Given the description of an element on the screen output the (x, y) to click on. 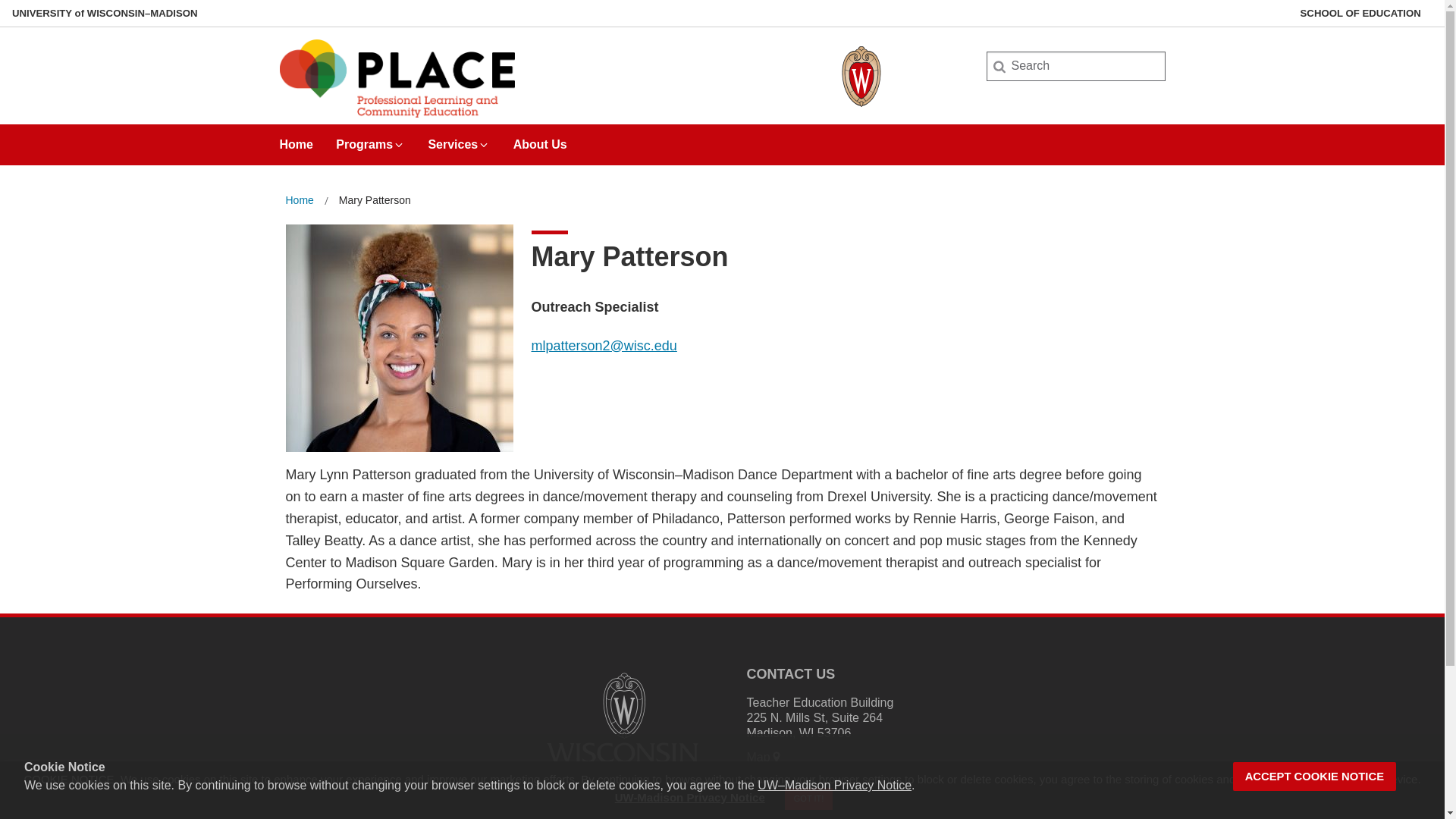
Map map marker (763, 757)
Home (299, 200)
Home (299, 200)
map marker (776, 756)
University logo that links to main university website (621, 722)
Mary Patterson (374, 200)
ACCEPT COOKIE NOTICE (1314, 776)
Expand (483, 144)
Mary Patterson (374, 200)
UW-Madison Privacy Notice (689, 797)
About Us (540, 139)
Expand (398, 144)
Skip to main content (3, 3)
University logo that links to main university website (621, 775)
SCHOOL OF EDUCATION (1360, 13)
